Given the description of an element on the screen output the (x, y) to click on. 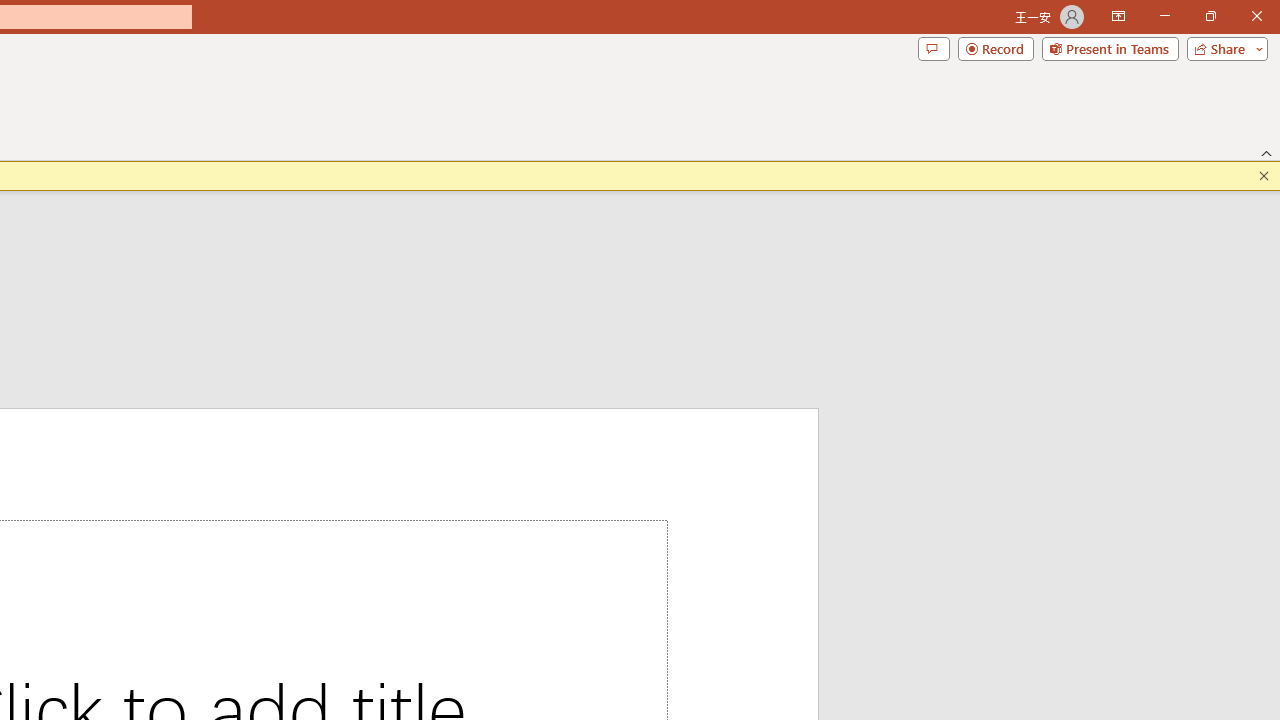
Close this message (1263, 176)
